Given the description of an element on the screen output the (x, y) to click on. 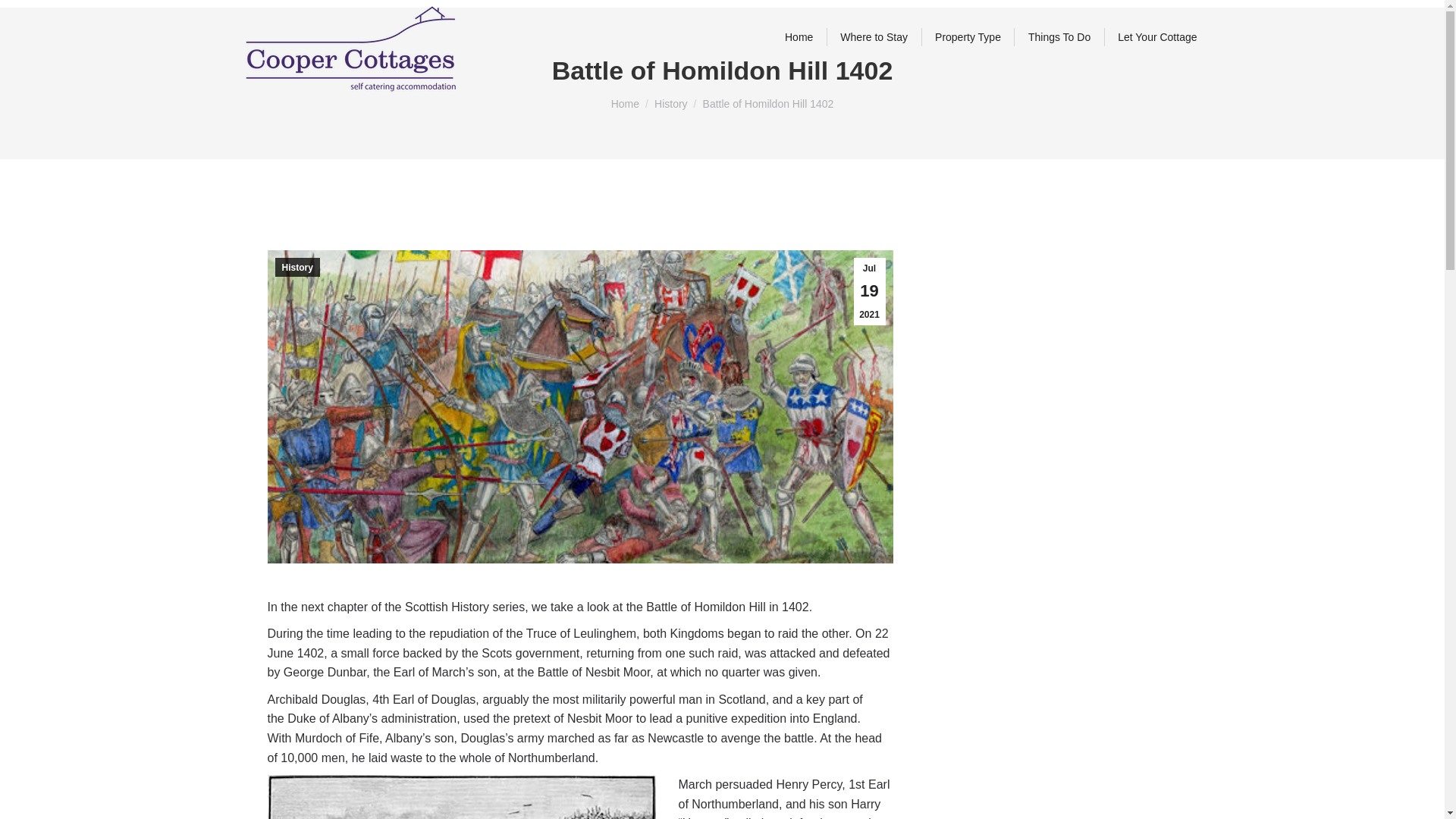
Home (798, 36)
Property Type (967, 36)
Home (625, 103)
History (670, 103)
Where to Stay (874, 36)
